Given the description of an element on the screen output the (x, y) to click on. 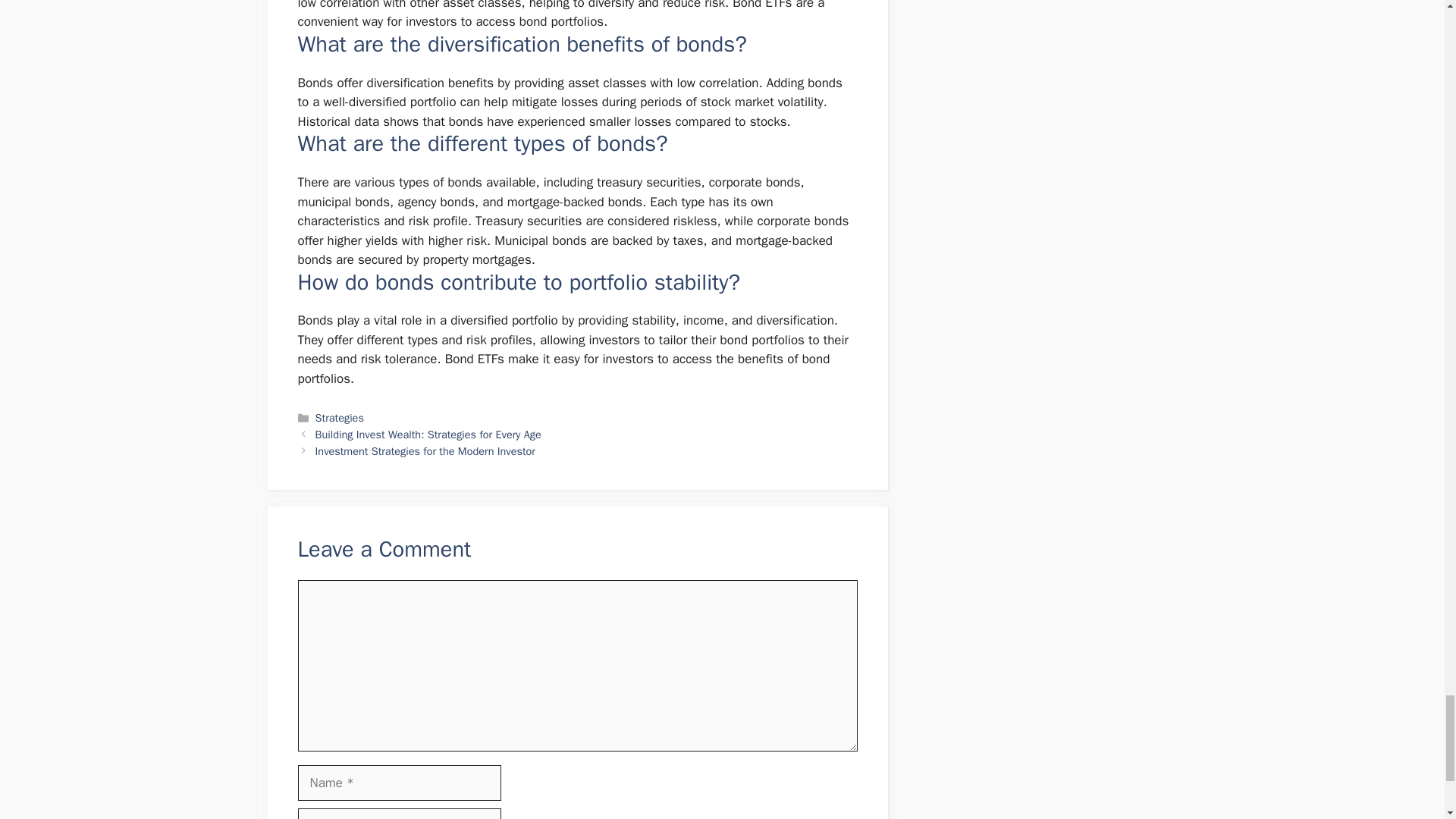
Building Invest Wealth: Strategies for Every Age (428, 434)
Investment Strategies for the Modern Investor (425, 450)
Strategies (339, 418)
